Given the description of an element on the screen output the (x, y) to click on. 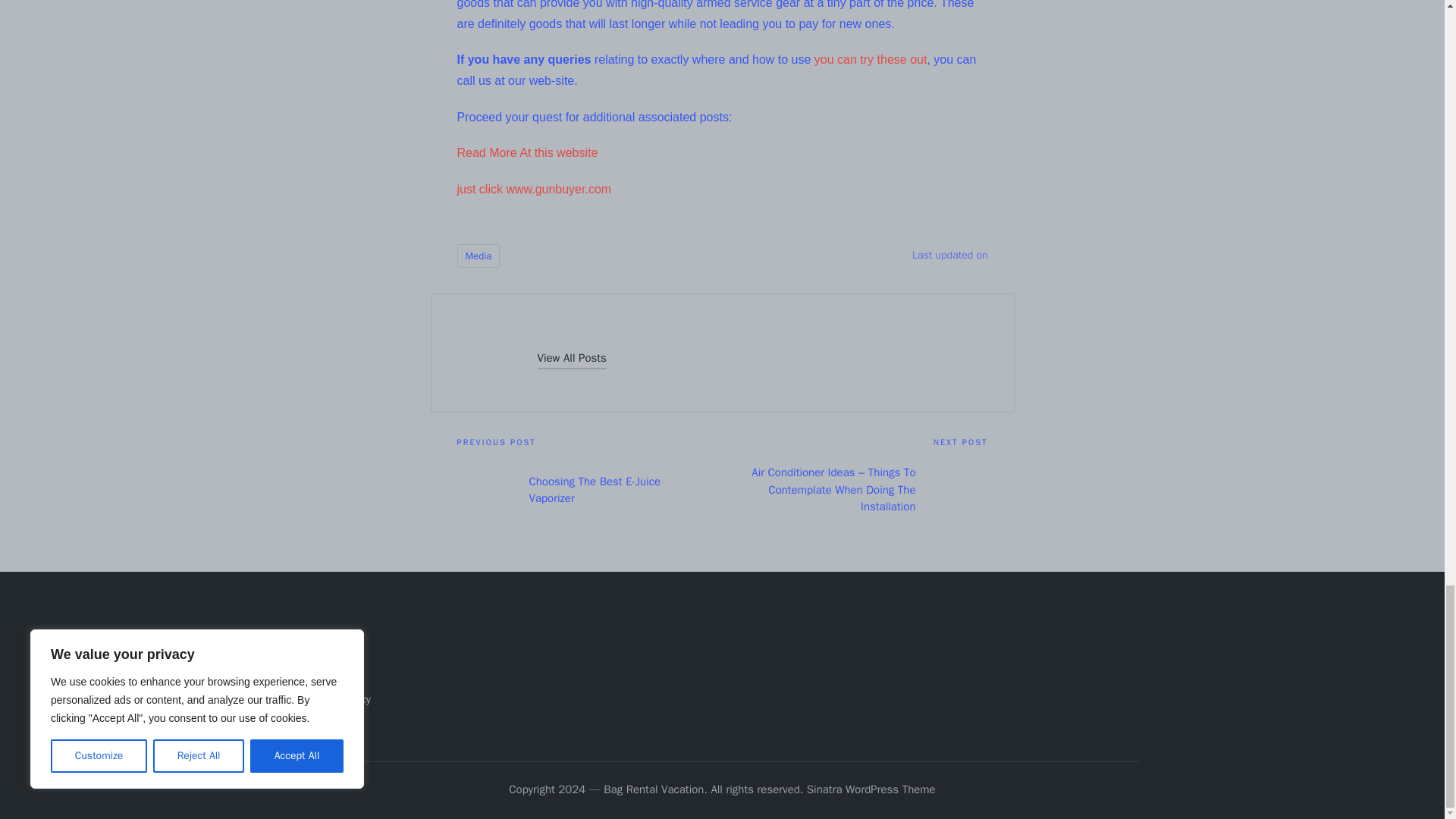
View All Posts (571, 358)
Choosing The Best E-Juice Vaporizer (589, 489)
just click www.gunbuyer.com (534, 188)
Sinatra WordPress Theme (871, 790)
Read More At this website (526, 152)
Contact (323, 674)
you can try these out (870, 59)
Media (478, 255)
About (318, 649)
Privacy Policy (337, 698)
